Given the description of an element on the screen output the (x, y) to click on. 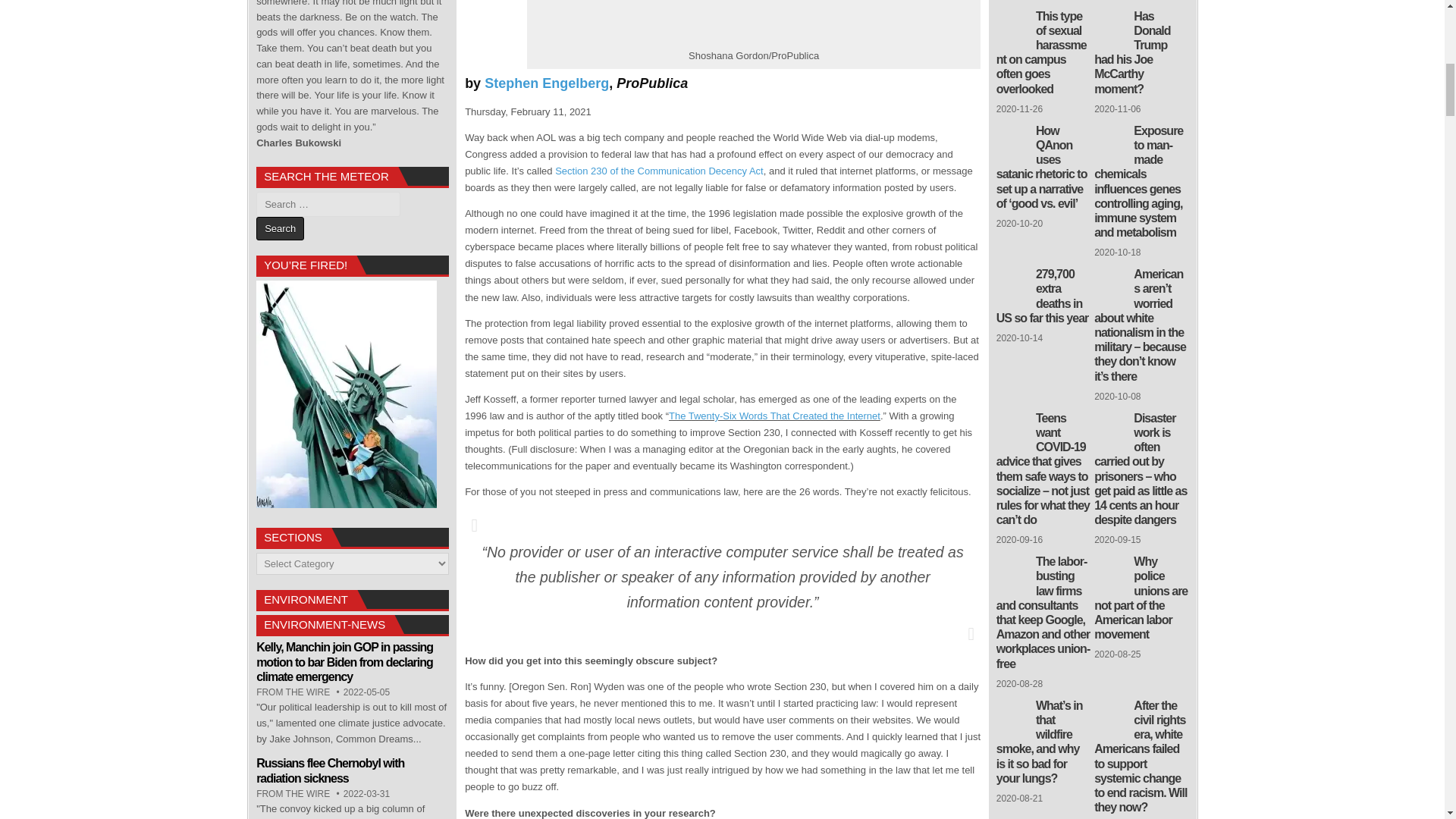
Stephen Engelberg (546, 83)
Search (280, 228)
Search (280, 228)
Section 230 of the Communication Decency Act (658, 170)
The Twenty-Six Words That Created the Internet (774, 415)
